Given the description of an element on the screen output the (x, y) to click on. 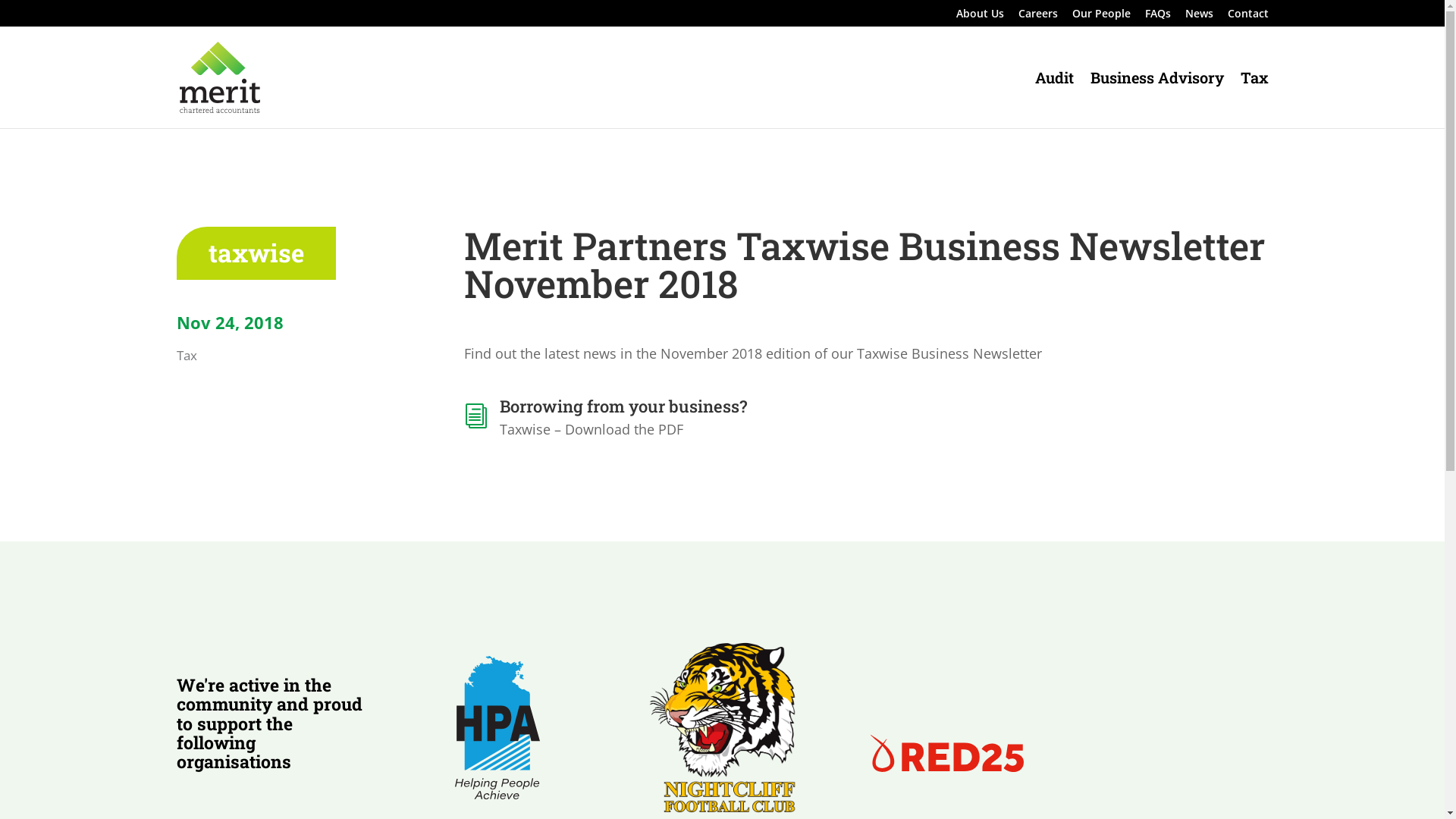
i Element type: text (476, 416)
Borrowing from your business? Element type: text (622, 406)
About Us Element type: text (979, 16)
Our People Element type: text (1101, 16)
FAQs Element type: text (1157, 16)
Business Advisory Element type: text (1156, 100)
Tax Element type: text (185, 355)
Contact Element type: text (1246, 16)
News Element type: text (1198, 16)
Careers Element type: text (1037, 16)
Tax Element type: text (1254, 100)
Audit Element type: text (1053, 100)
